Given the description of an element on the screen output the (x, y) to click on. 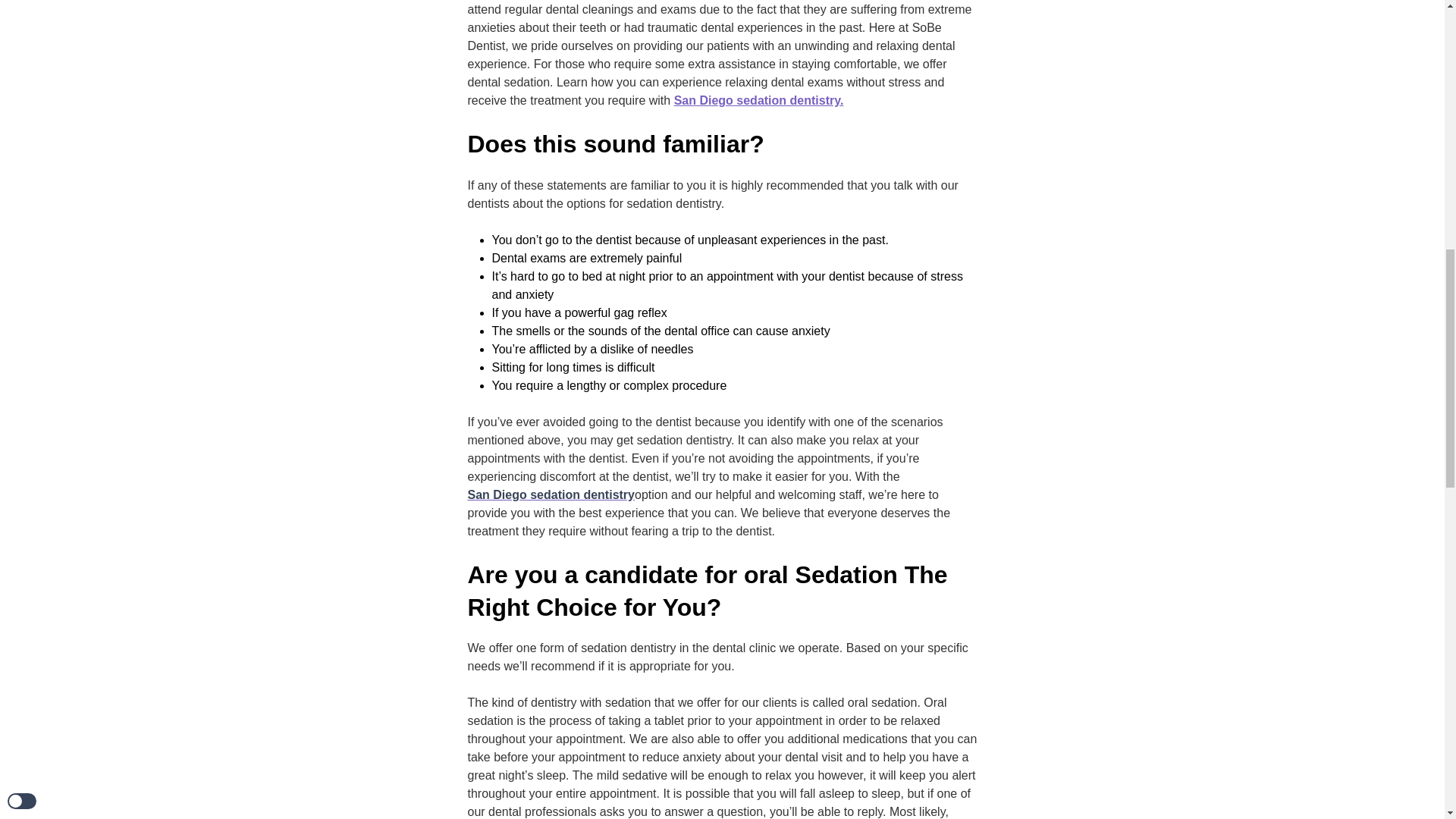
San Diego sedation dentistry (550, 495)
San Diego sedation dentistry. (759, 100)
